Given the description of an element on the screen output the (x, y) to click on. 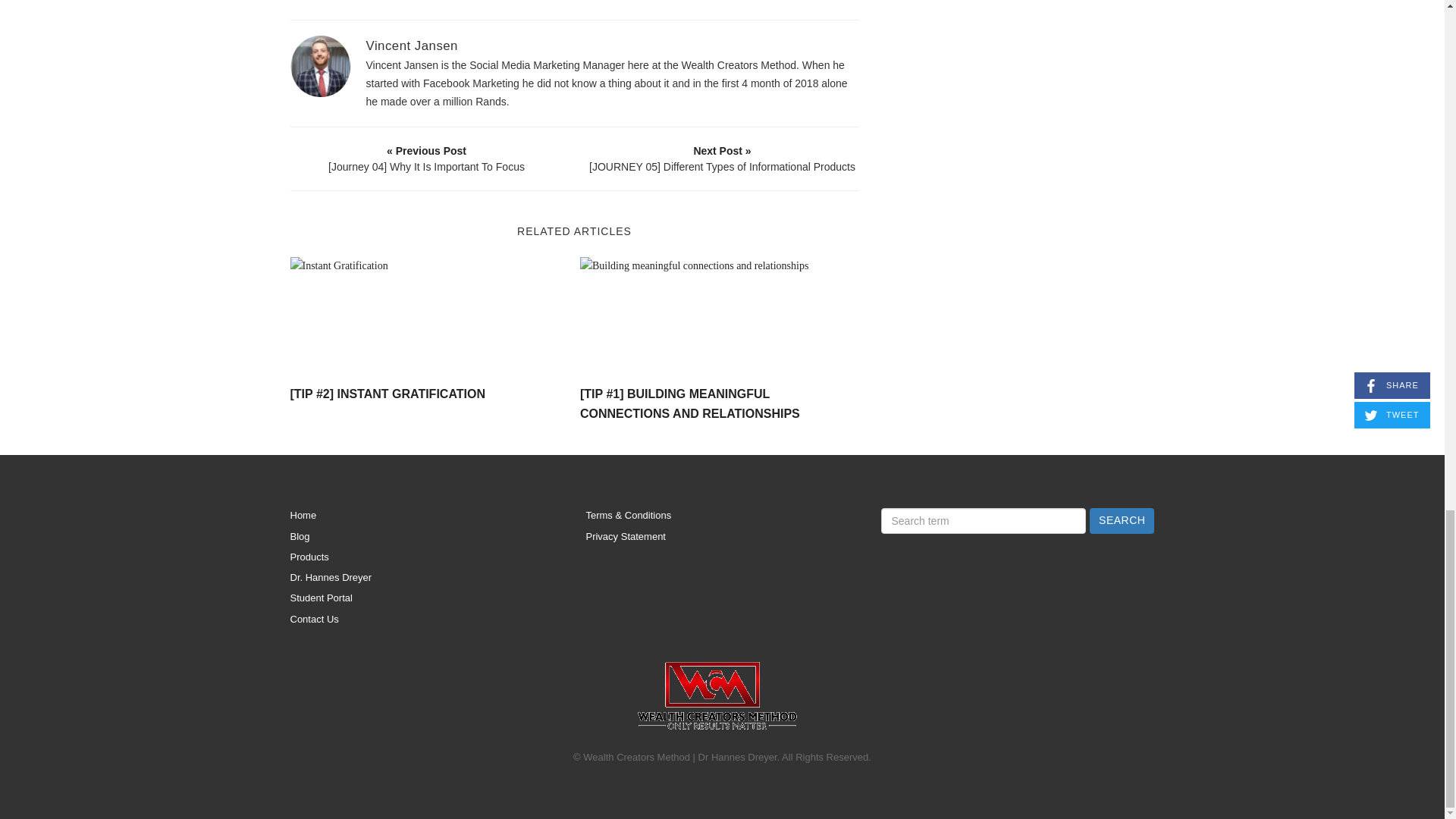
Vincent Jansen (411, 45)
Search (1121, 520)
Wealth Creators Blog (716, 695)
